Given the description of an element on the screen output the (x, y) to click on. 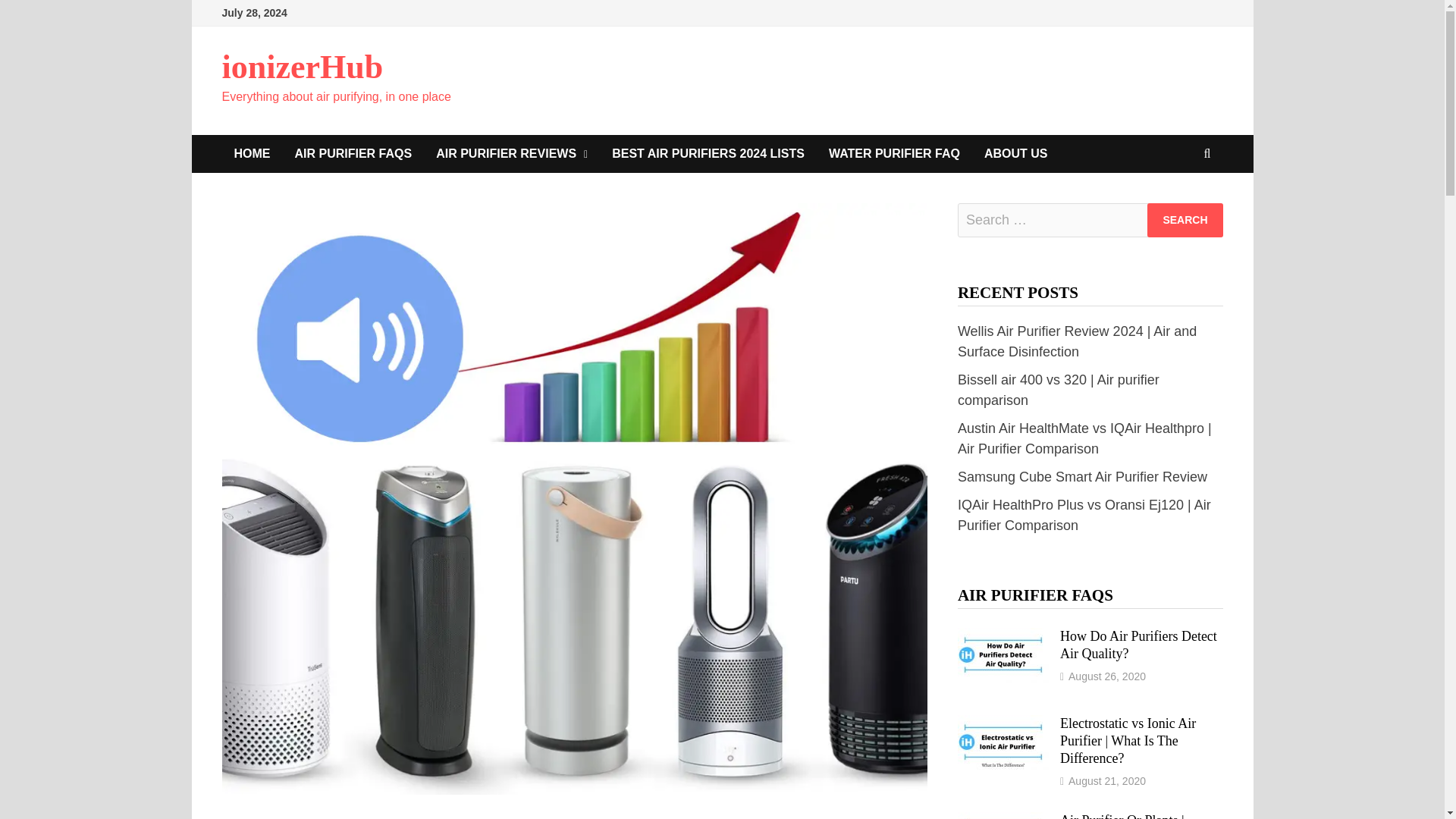
ionizerHub (301, 66)
WATER PURIFIER FAQ (894, 153)
AIR PURIFIER REVIEWS (511, 153)
Search (1185, 220)
AIR PURIFIER FAQS (352, 153)
How Do Air Purifiers Detect Air Quality? (1003, 637)
HOME (251, 153)
Search (1185, 220)
BEST AIR PURIFIERS 2024 LISTS (707, 153)
ABOUT US (1015, 153)
Search (1185, 220)
